Given the description of an element on the screen output the (x, y) to click on. 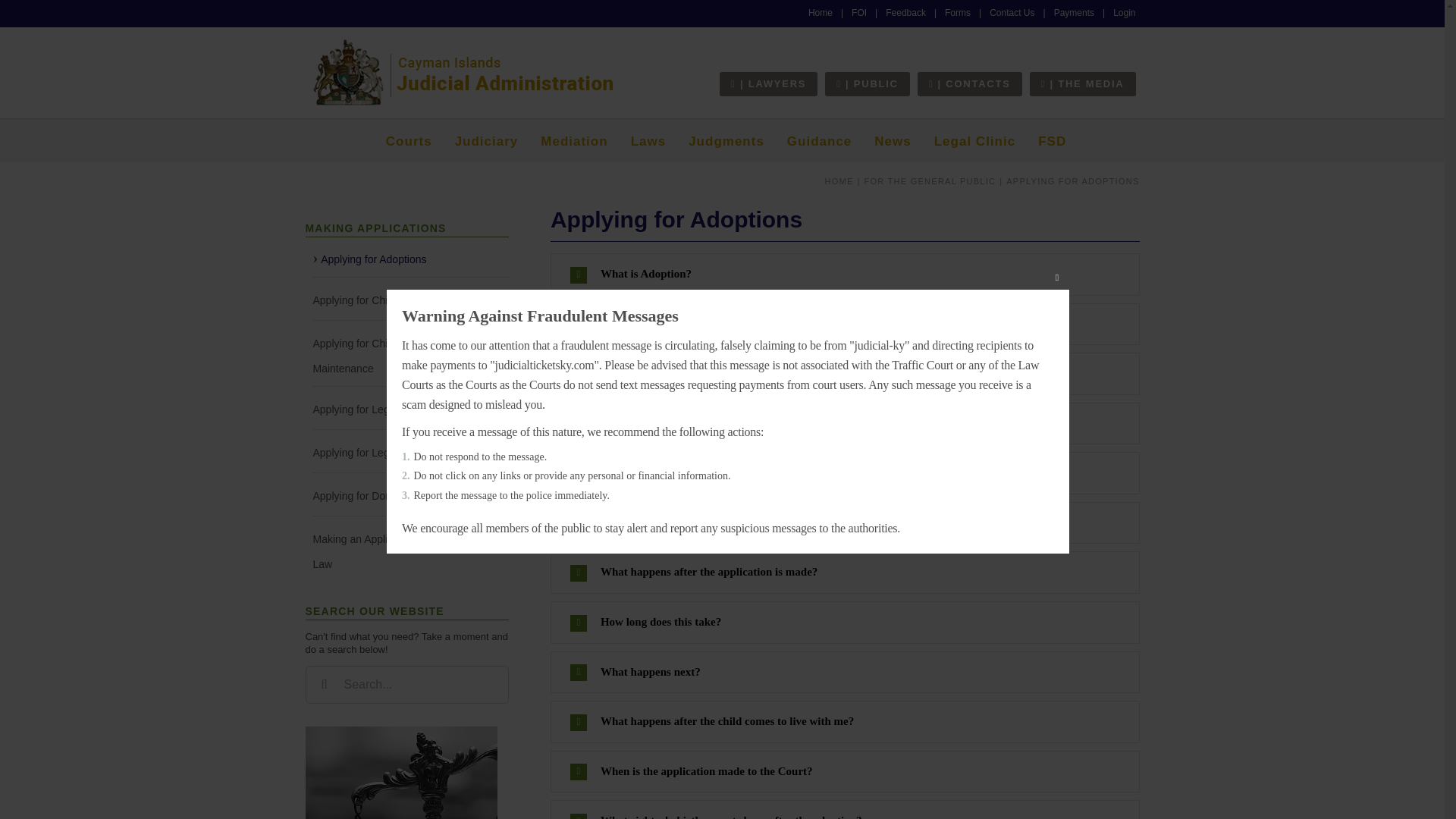
Contact Us (1011, 13)
Home (820, 13)
Payments (1073, 13)
Feedback (906, 13)
Login (1123, 13)
Courts (408, 141)
Forms (957, 13)
FOI (858, 13)
